Given the description of an element on the screen output the (x, y) to click on. 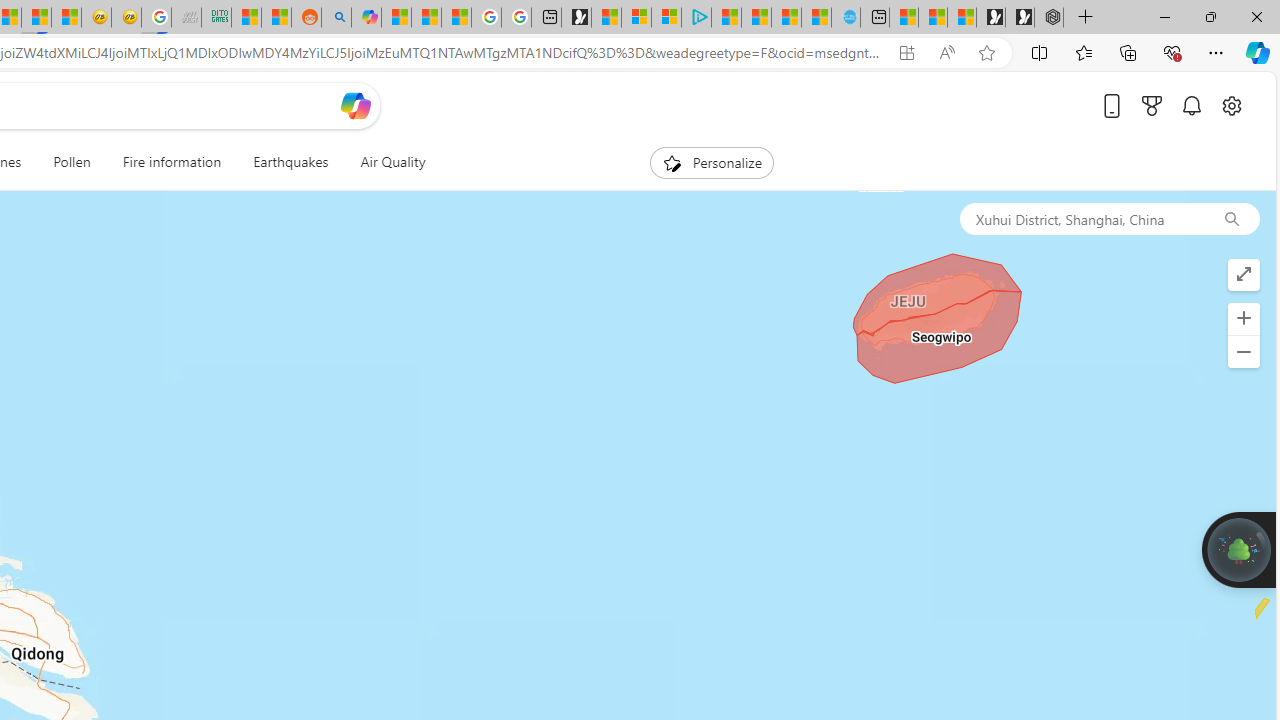
Air Quality (392, 162)
Enter full screen mode (1243, 274)
Fire information (172, 162)
